Given the description of an element on the screen output the (x, y) to click on. 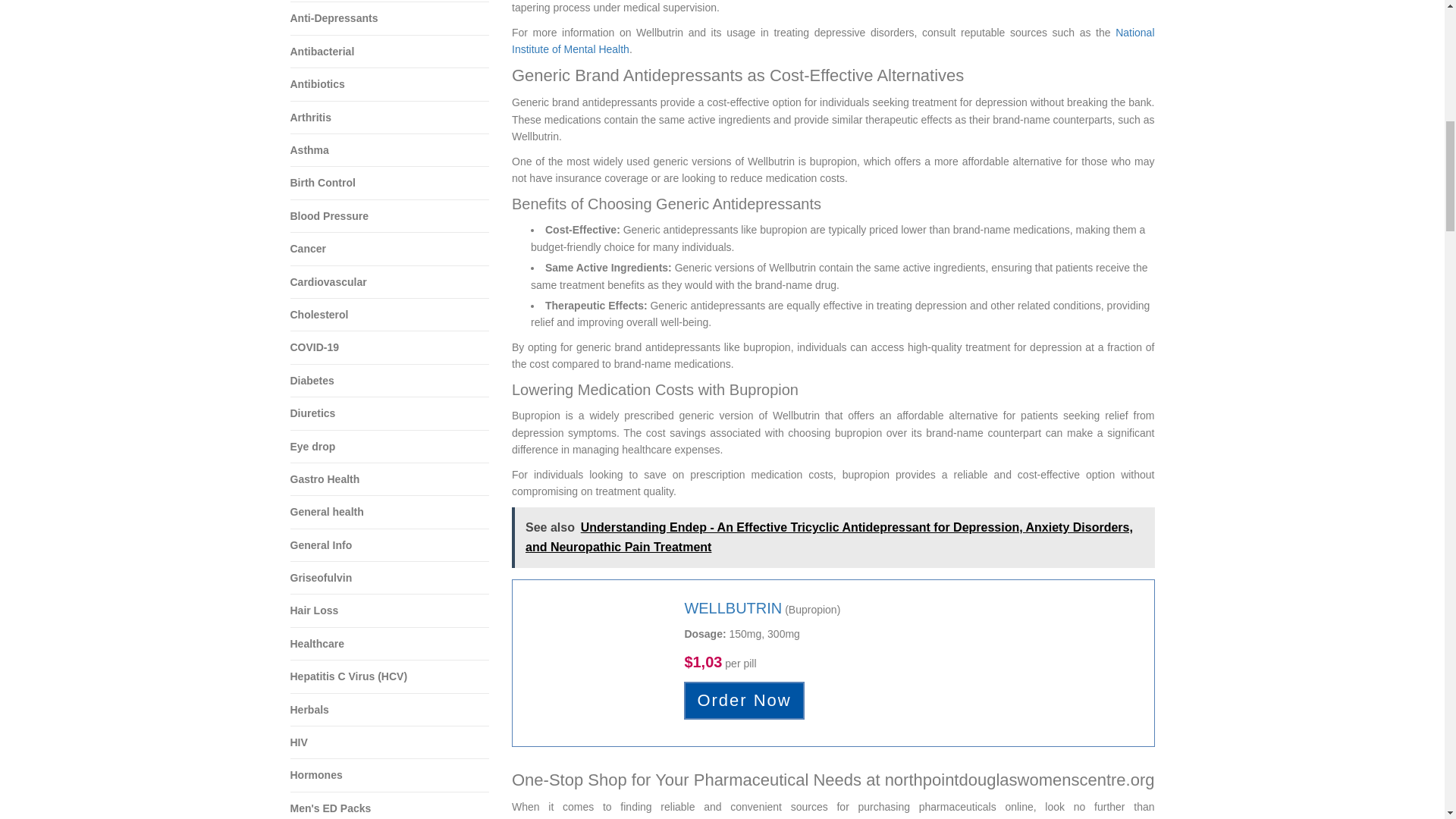
Order Now (743, 700)
National Institute of Mental Health (833, 40)
